Given the description of an element on the screen output the (x, y) to click on. 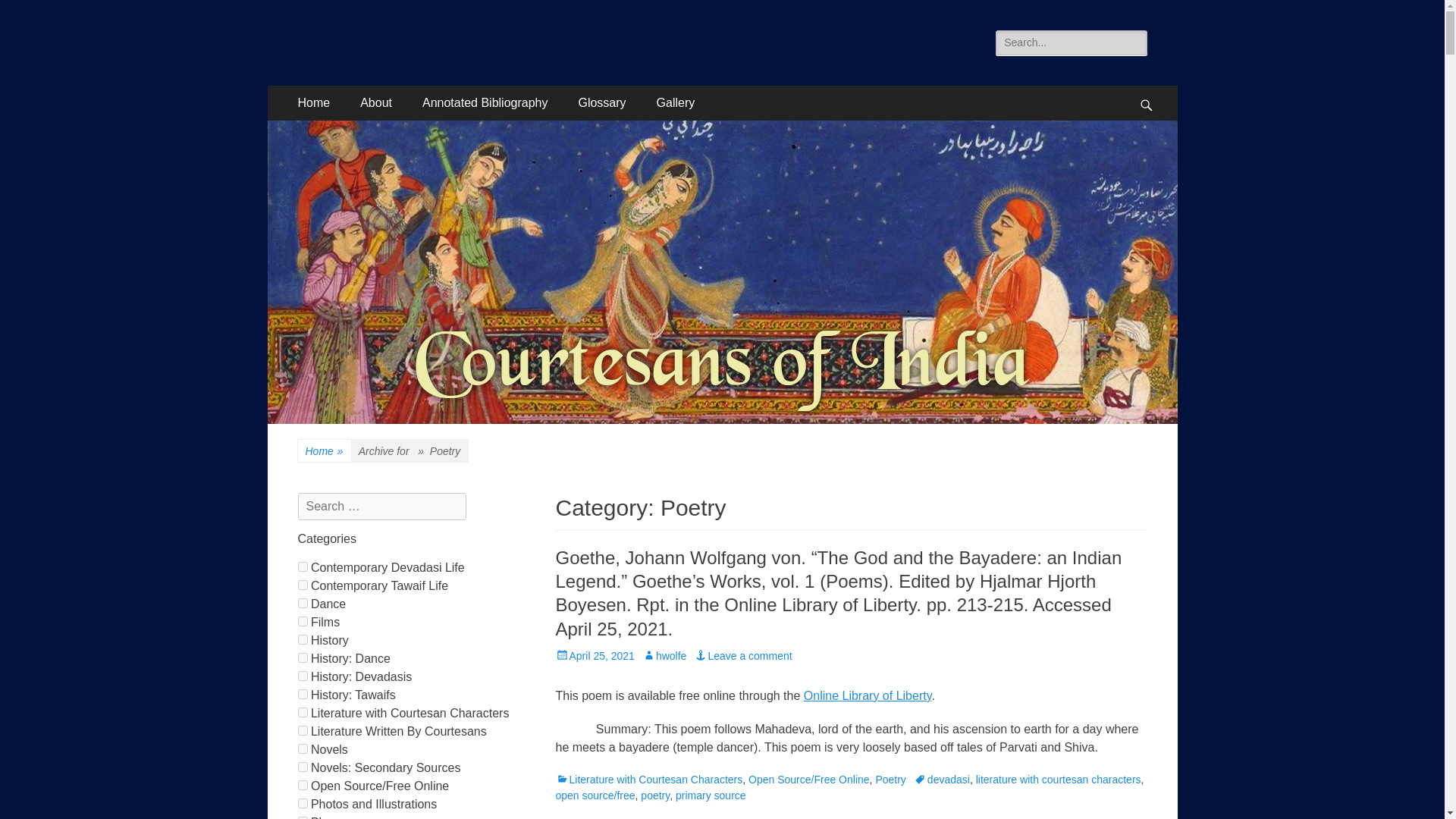
52 (302, 767)
132 (302, 712)
hwolfe (663, 655)
Gallery (676, 102)
82 (302, 657)
Search for: (1071, 42)
literature with courtesan characters (1058, 779)
40 (302, 748)
Search (33, 13)
Home (313, 102)
61 (302, 785)
41 (302, 621)
39 (302, 803)
About (376, 102)
